Given the description of an element on the screen output the (x, y) to click on. 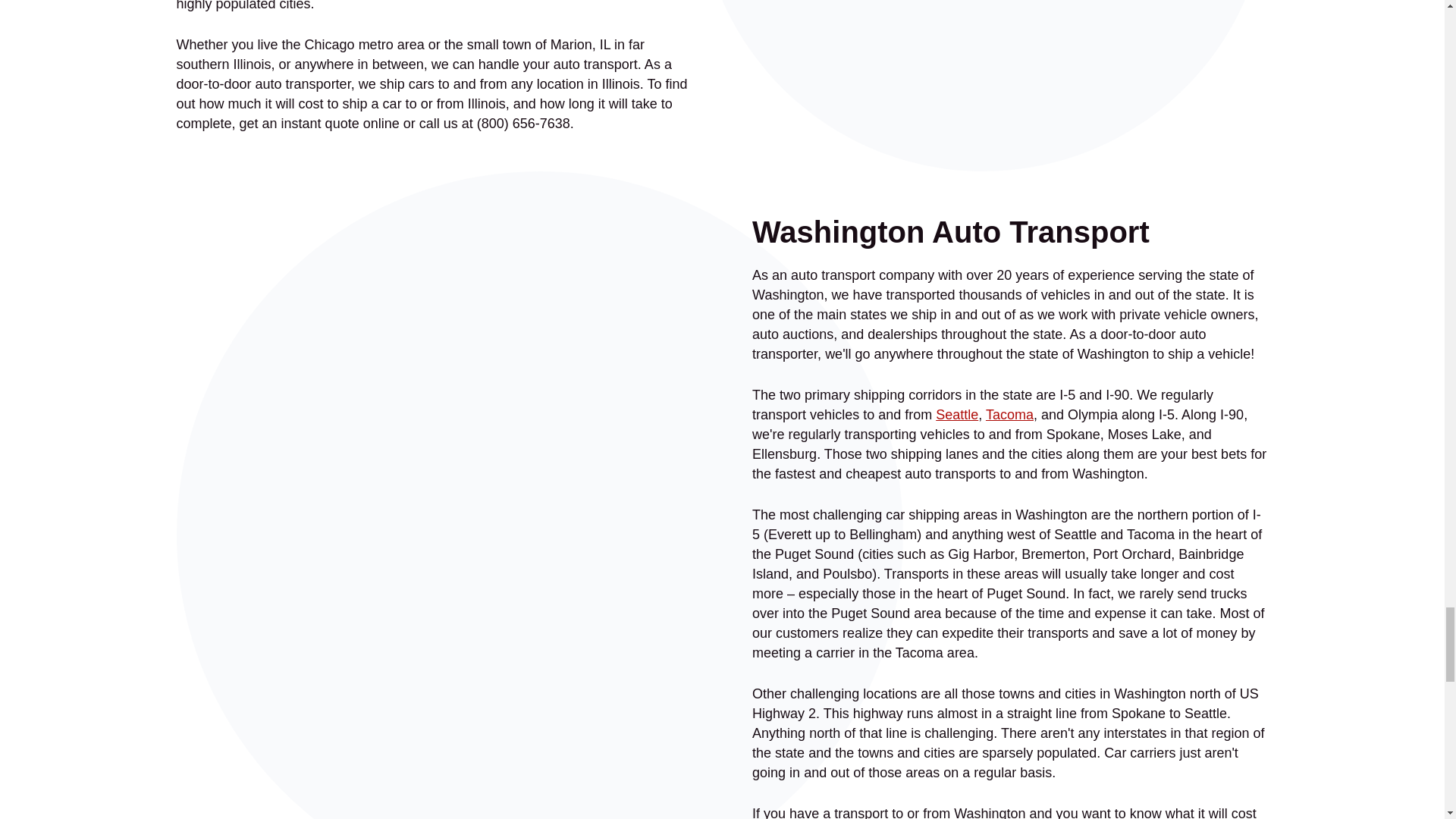
washington-car-shipping-2 (1010, 72)
